Given the description of an element on the screen output the (x, y) to click on. 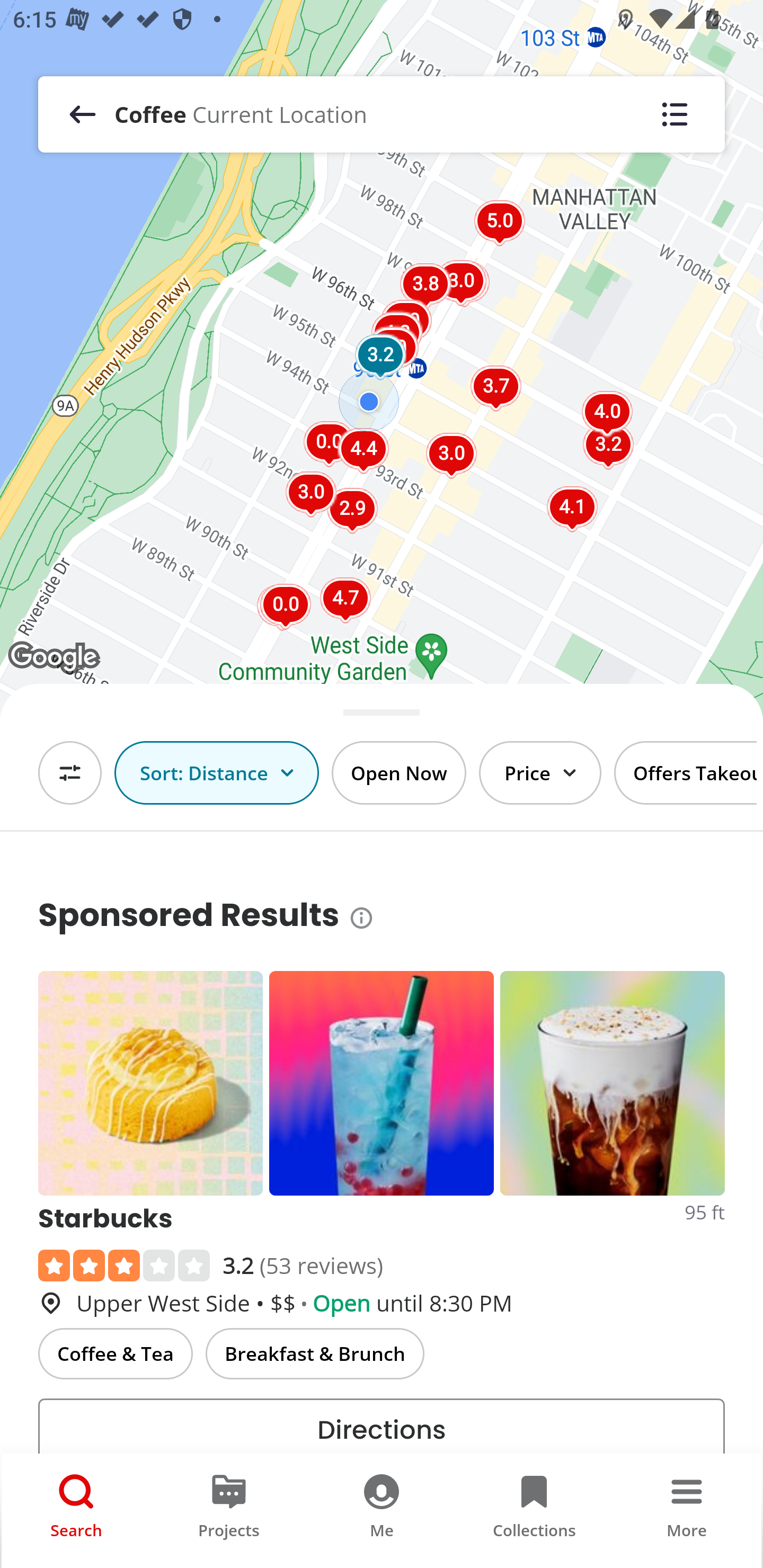
See all filters (69, 772)
